Given the description of an element on the screen output the (x, y) to click on. 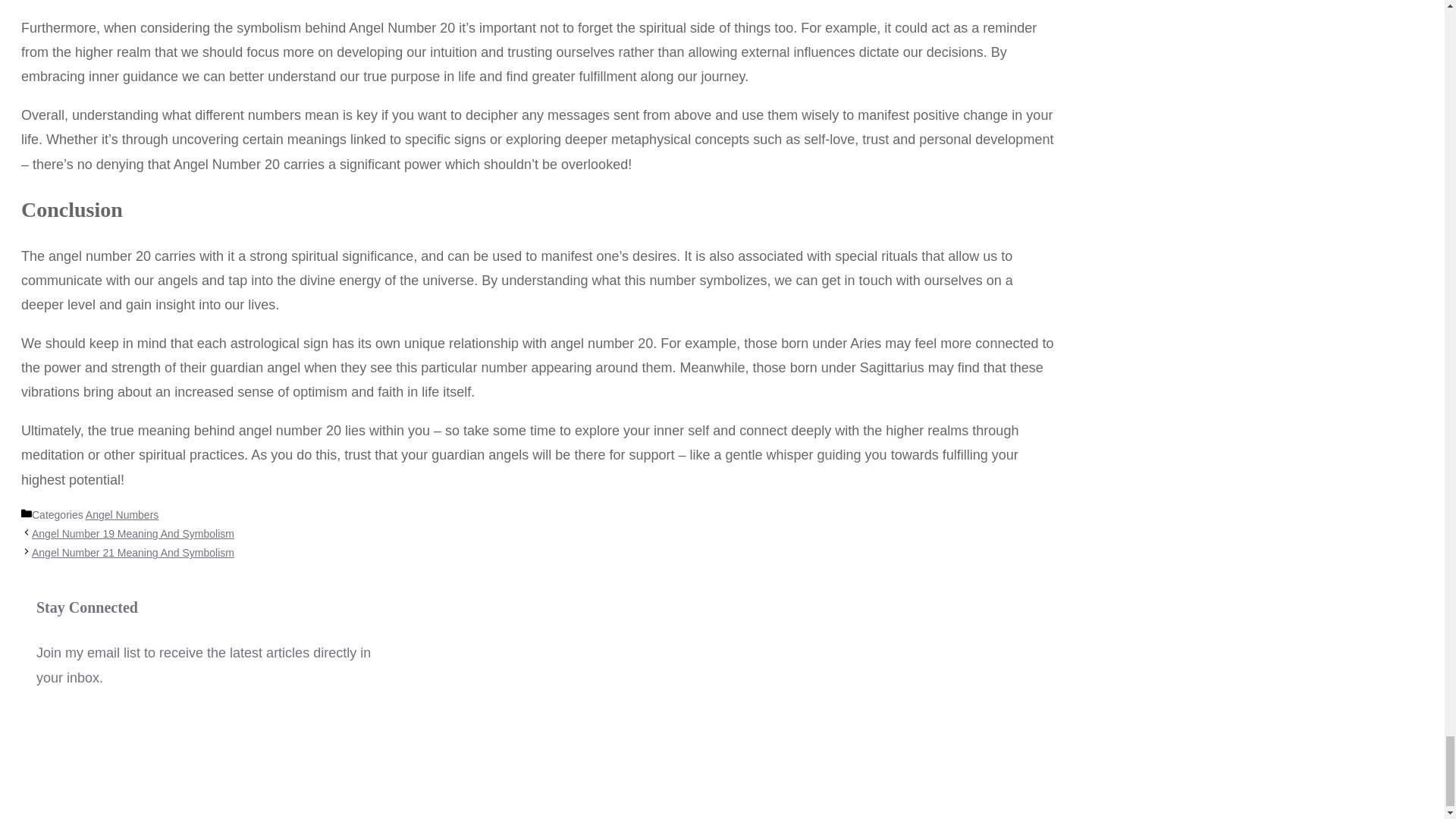
Angel Numbers (121, 514)
Angel Number 19 Meaning And Symbolism (133, 533)
Angel Number 21 Meaning And Symbolism (133, 552)
